Given the description of an element on the screen output the (x, y) to click on. 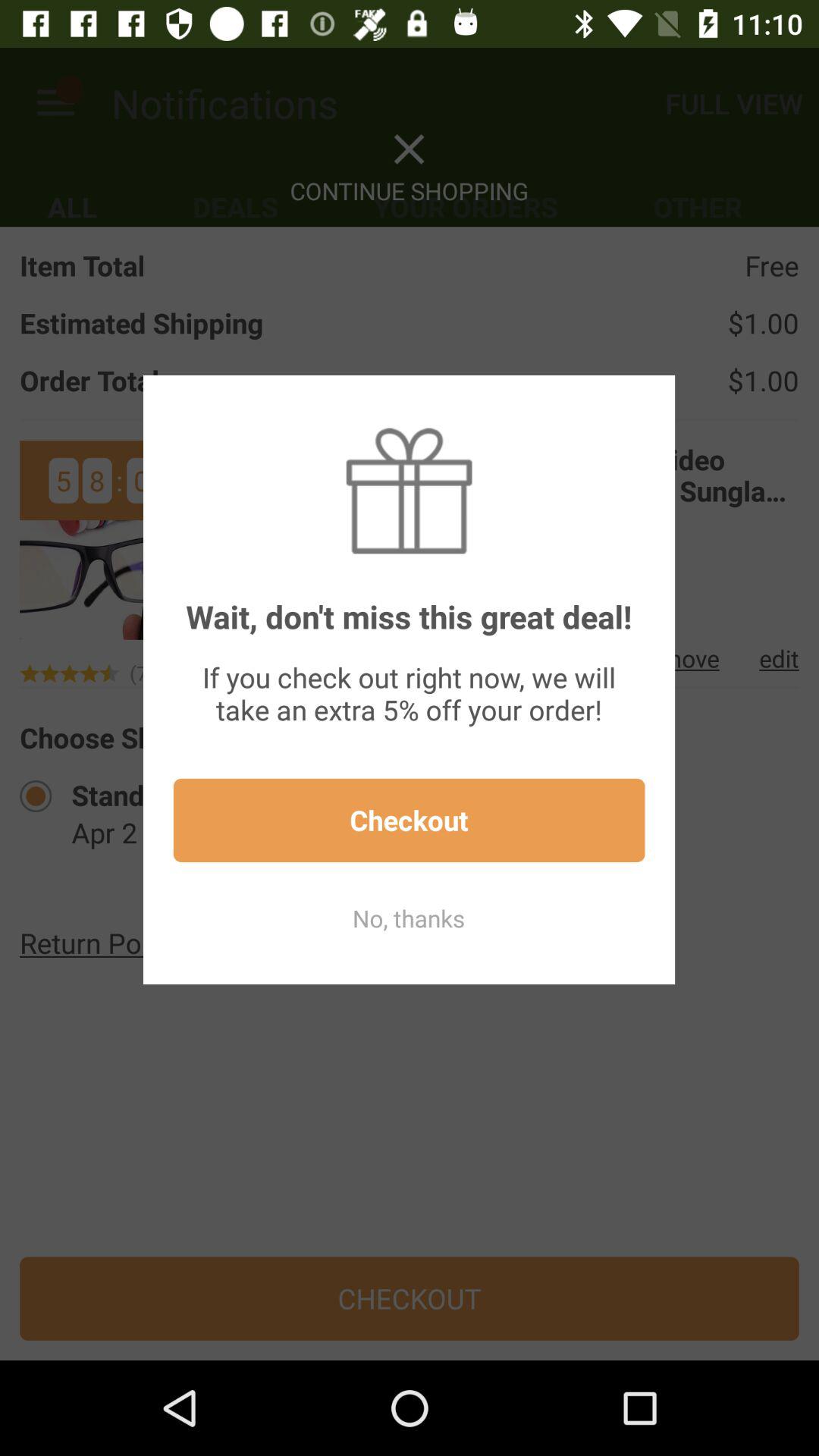
open the item above no, thanks icon (408, 820)
